Given the description of an element on the screen output the (x, y) to click on. 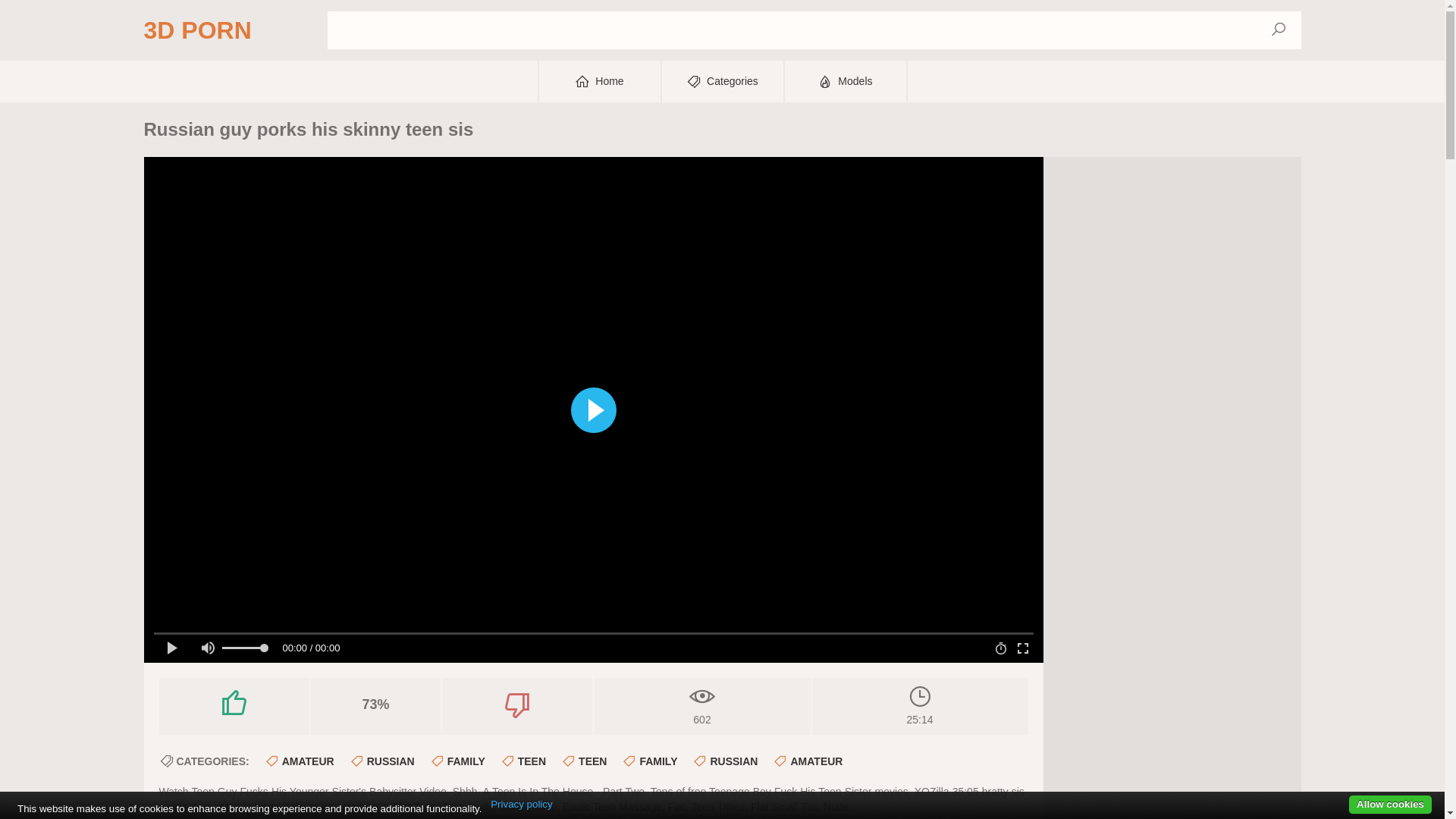
Models Element type: text (844, 81)
Home Element type: text (598, 81)
RUSSIAN Element type: text (724, 760)
Find Element type: hover (1277, 30)
3D PORN Element type: text (197, 30)
Privacy policy Element type: text (521, 804)
RUSSIAN Element type: text (381, 760)
AMATEUR Element type: text (299, 760)
Categories Element type: text (721, 81)
TEEN Element type: text (523, 760)
TEEN Element type: text (583, 760)
Dislike! Element type: hover (517, 704)
Like! Element type: hover (234, 704)
Allow cookies Element type: text (1390, 804)
FAMILY Element type: text (649, 760)
FAMILY Element type: text (457, 760)
AMATEUR Element type: text (807, 760)
